Given the description of an element on the screen output the (x, y) to click on. 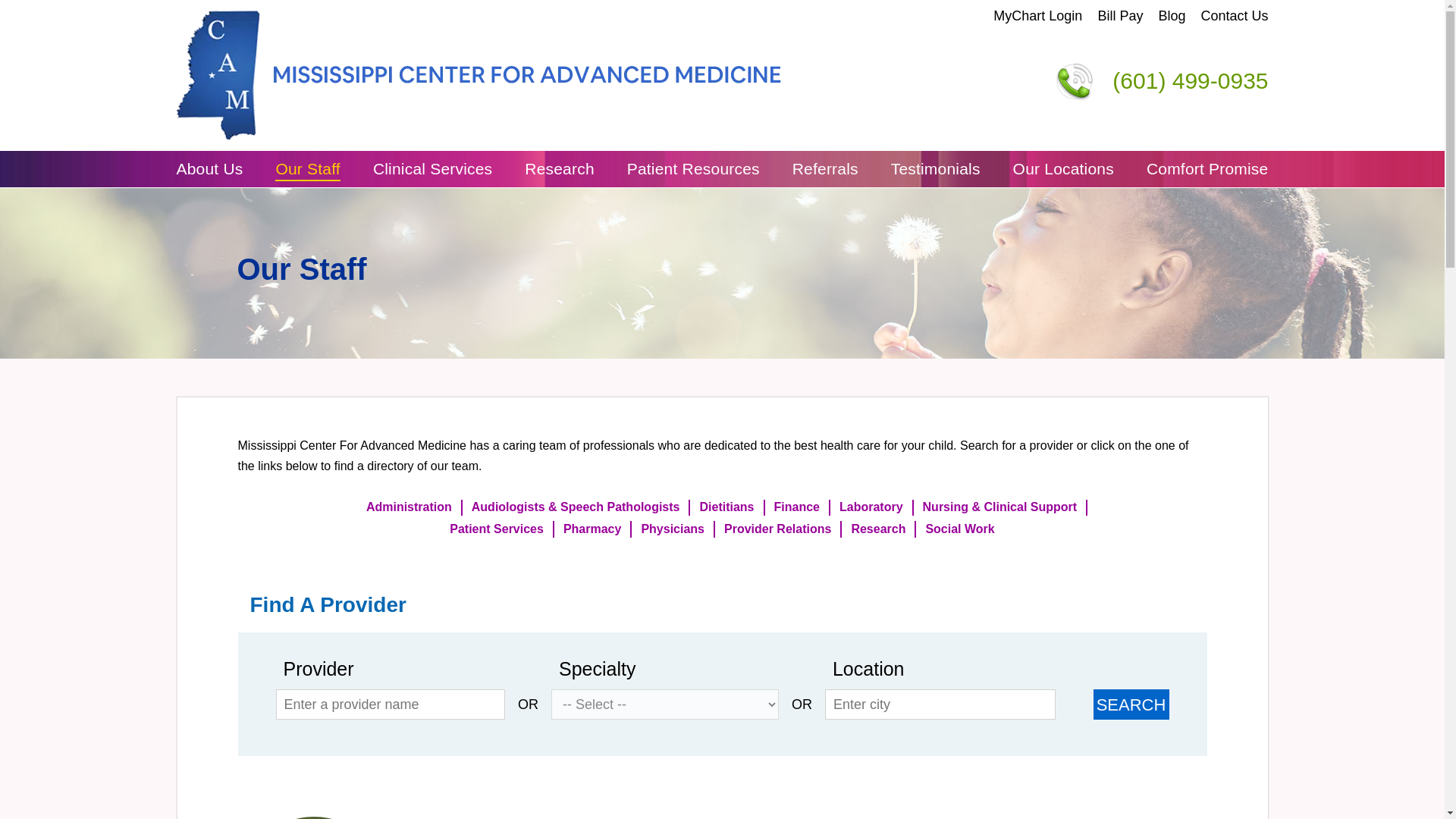
Search (1131, 704)
Referrals (825, 168)
Contact Us (1233, 16)
Clinical Services (432, 168)
Bill Pay (1119, 16)
Research (559, 168)
Patient Resources (693, 168)
Testimonials (935, 168)
Comfort Promise (1207, 168)
About Us (209, 168)
